Given the description of an element on the screen output the (x, y) to click on. 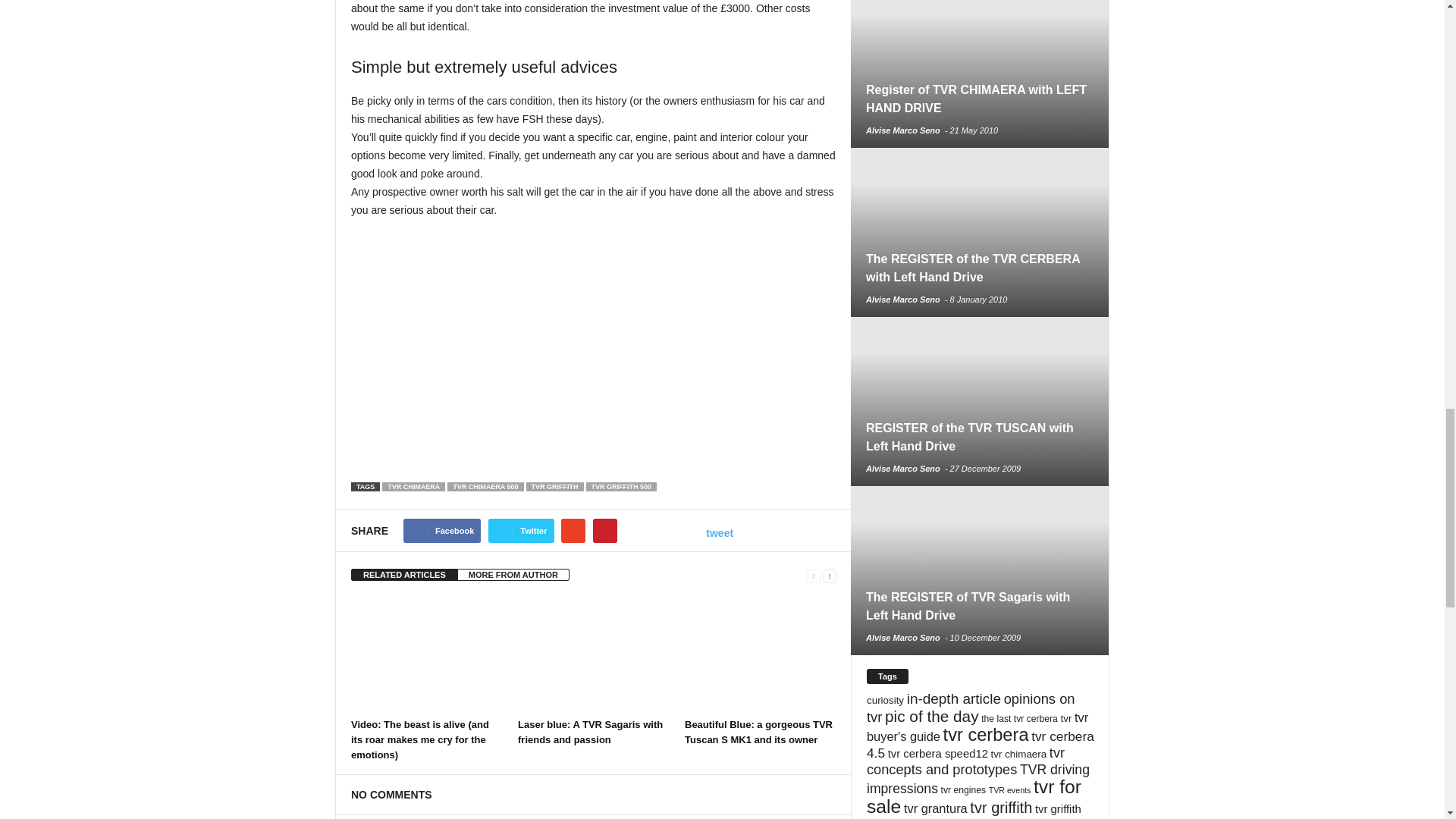
Facebook (441, 530)
Laser blue: A TVR Sagaris with friends and passion (590, 732)
Beautiful Blue: a gorgeous TVR Tuscan S MK1 and its owner (759, 654)
TVR GRIFFITH (554, 486)
Twitter (520, 530)
Beautiful Blue: a gorgeous TVR Tuscan S MK1 and its owner (758, 732)
TVR CHIMAERA 500 (484, 486)
TVR GRIFFITH 500 (622, 486)
Laser blue: A TVR Sagaris with friends and passion (593, 654)
TVR CHIMAERA (413, 486)
